Given the description of an element on the screen output the (x, y) to click on. 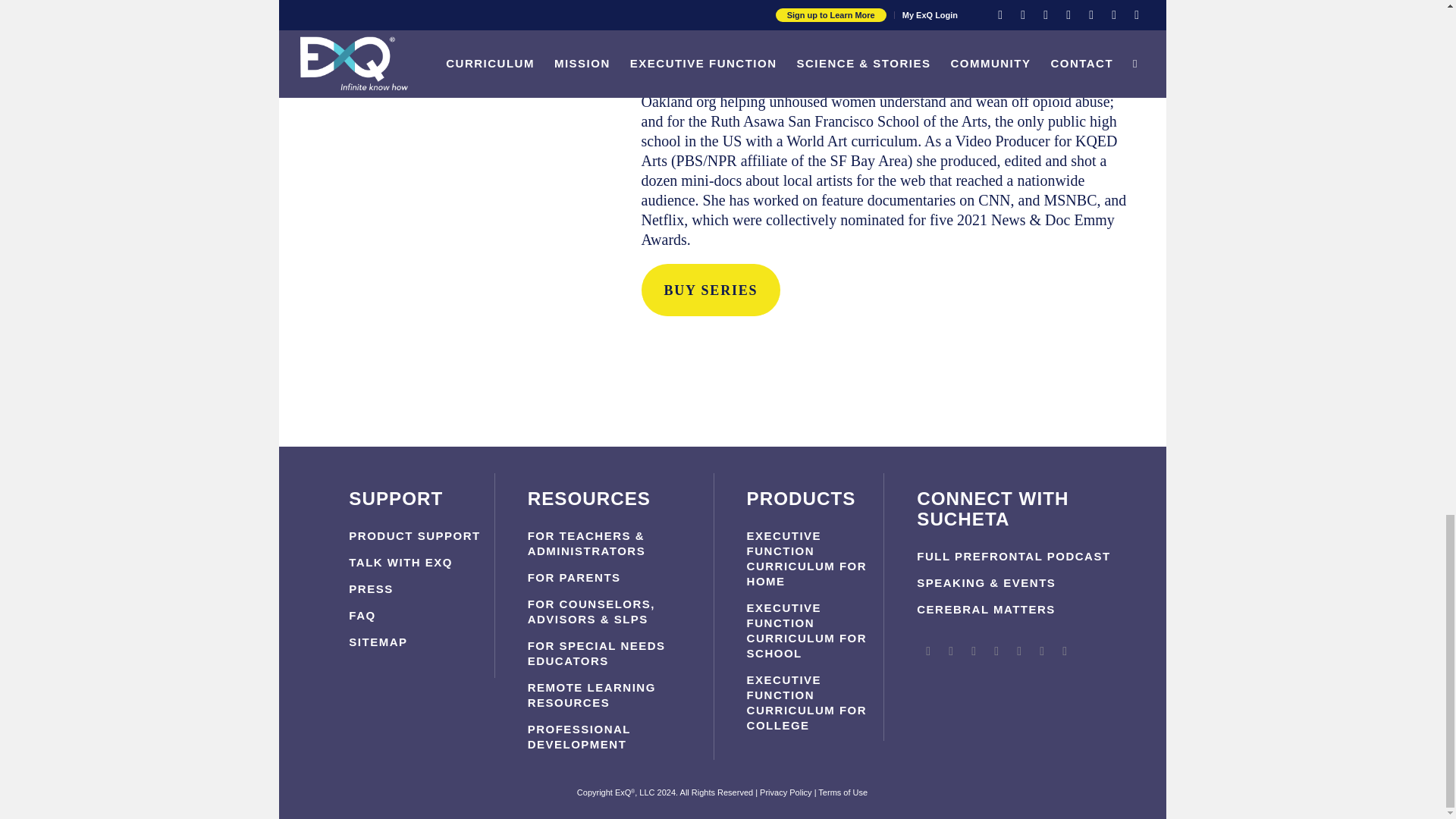
BUY SERIES (711, 289)
